Given the description of an element on the screen output the (x, y) to click on. 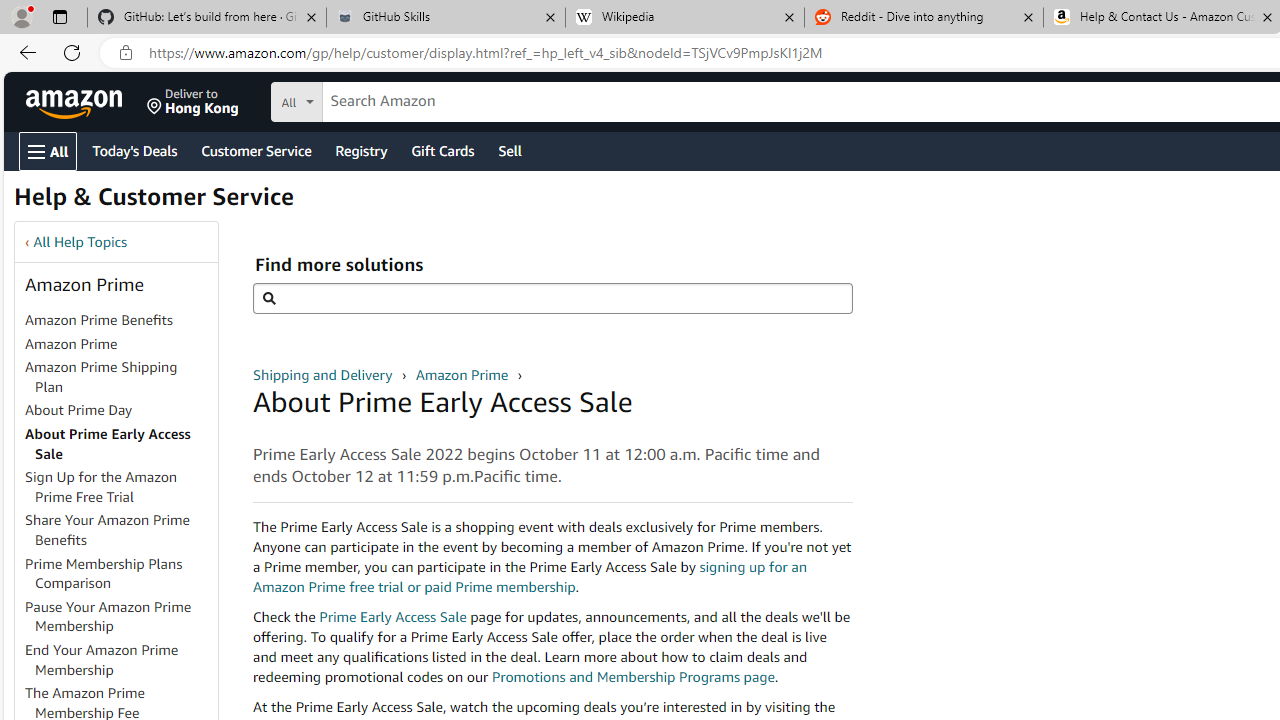
Amazon Prime Benefits (120, 321)
Wikipedia (684, 17)
Amazon (76, 101)
Open Menu (48, 151)
Prime Membership Plans Comparison (120, 573)
Amazon Prime  (463, 374)
GitHub Skills (445, 17)
Sign Up for the Amazon Prime Free Trial (120, 488)
Pause Your Amazon Prime Membership (108, 615)
Share Your Amazon Prime Benefits (120, 530)
Search in (371, 99)
Customer Service (256, 150)
Promotions and Membership Programs page (632, 676)
